Given the description of an element on the screen output the (x, y) to click on. 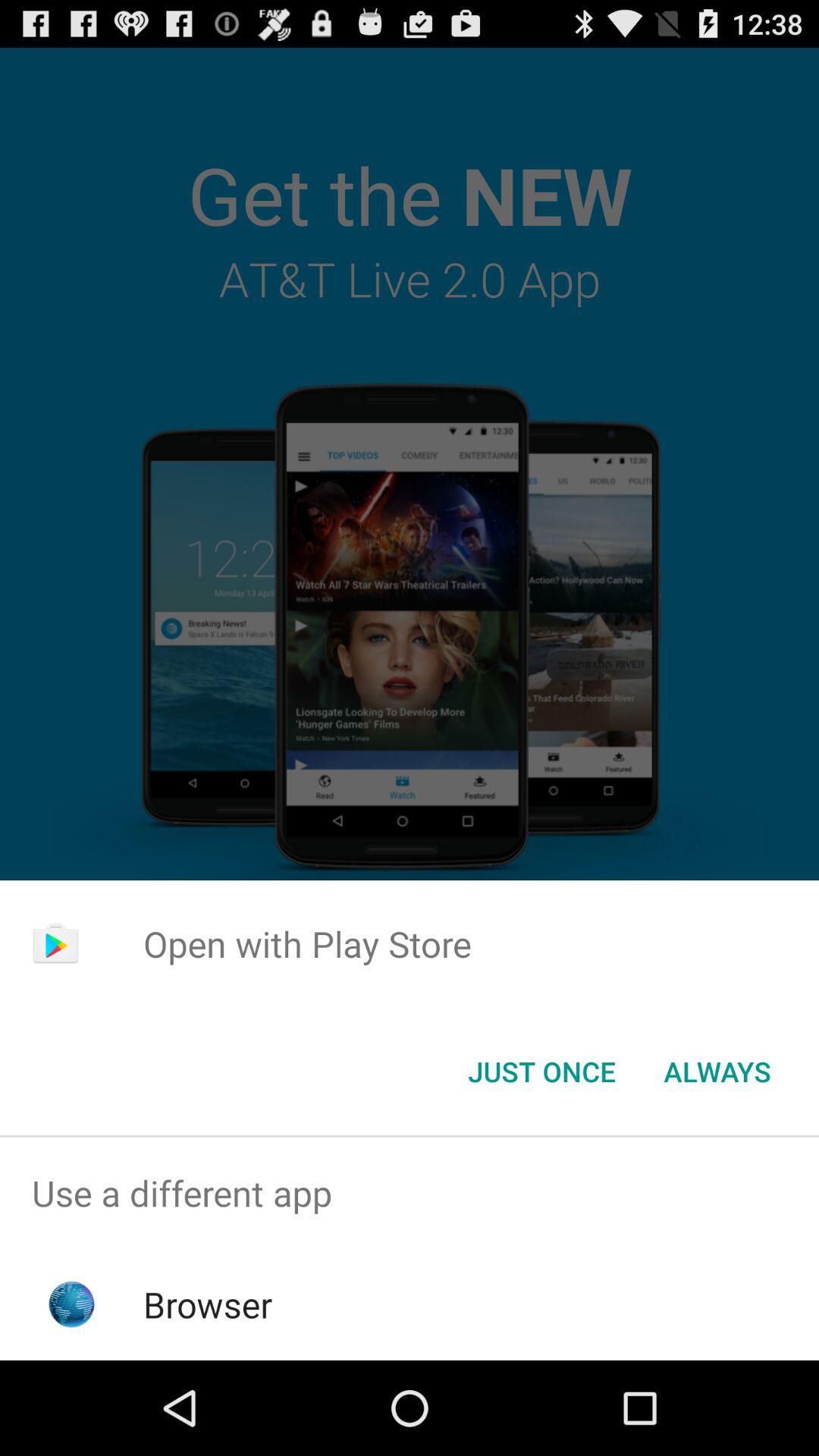
select button to the left of always icon (541, 1071)
